Given the description of an element on the screen output the (x, y) to click on. 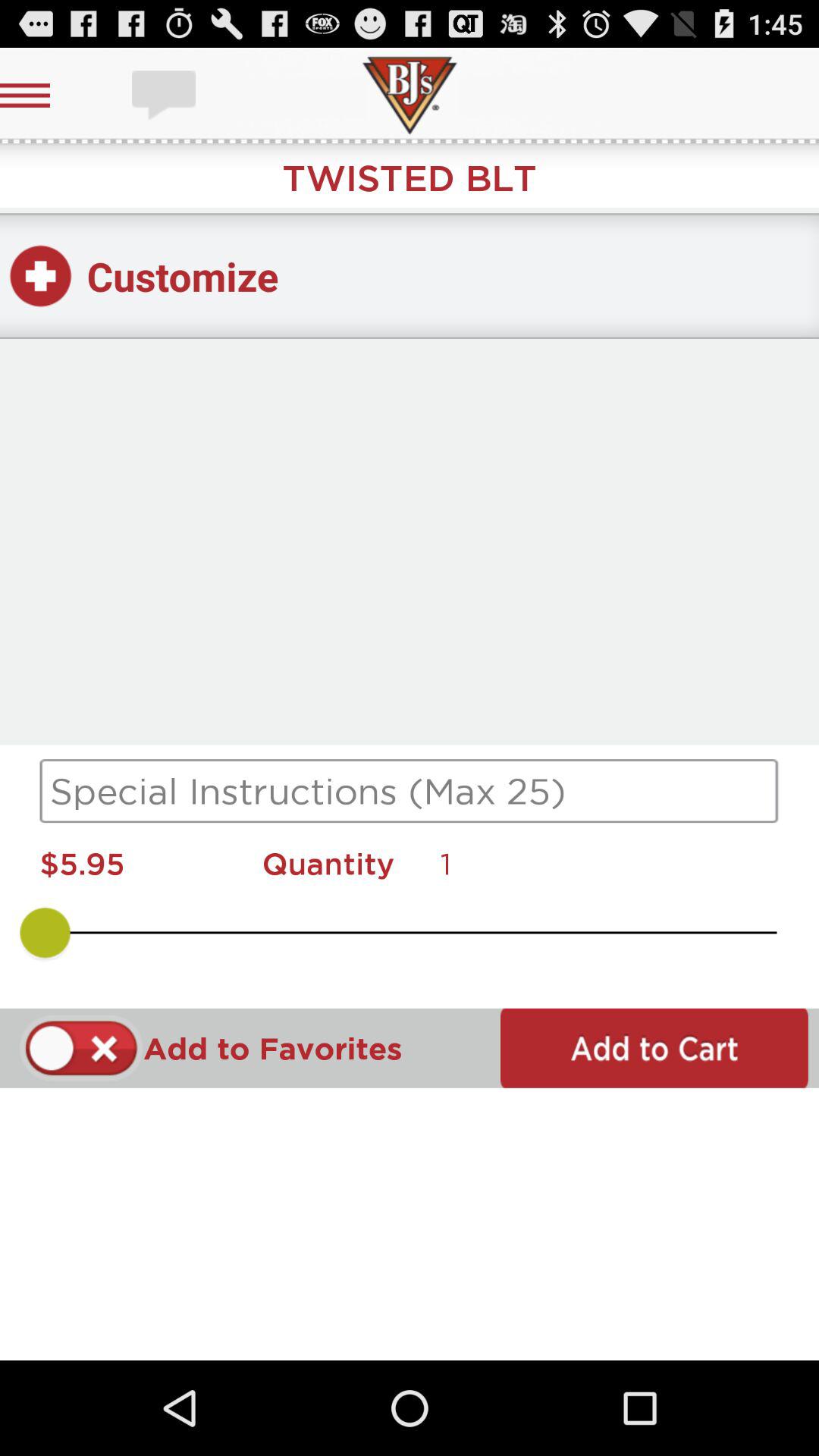
add to cart (654, 1048)
